Given the description of an element on the screen output the (x, y) to click on. 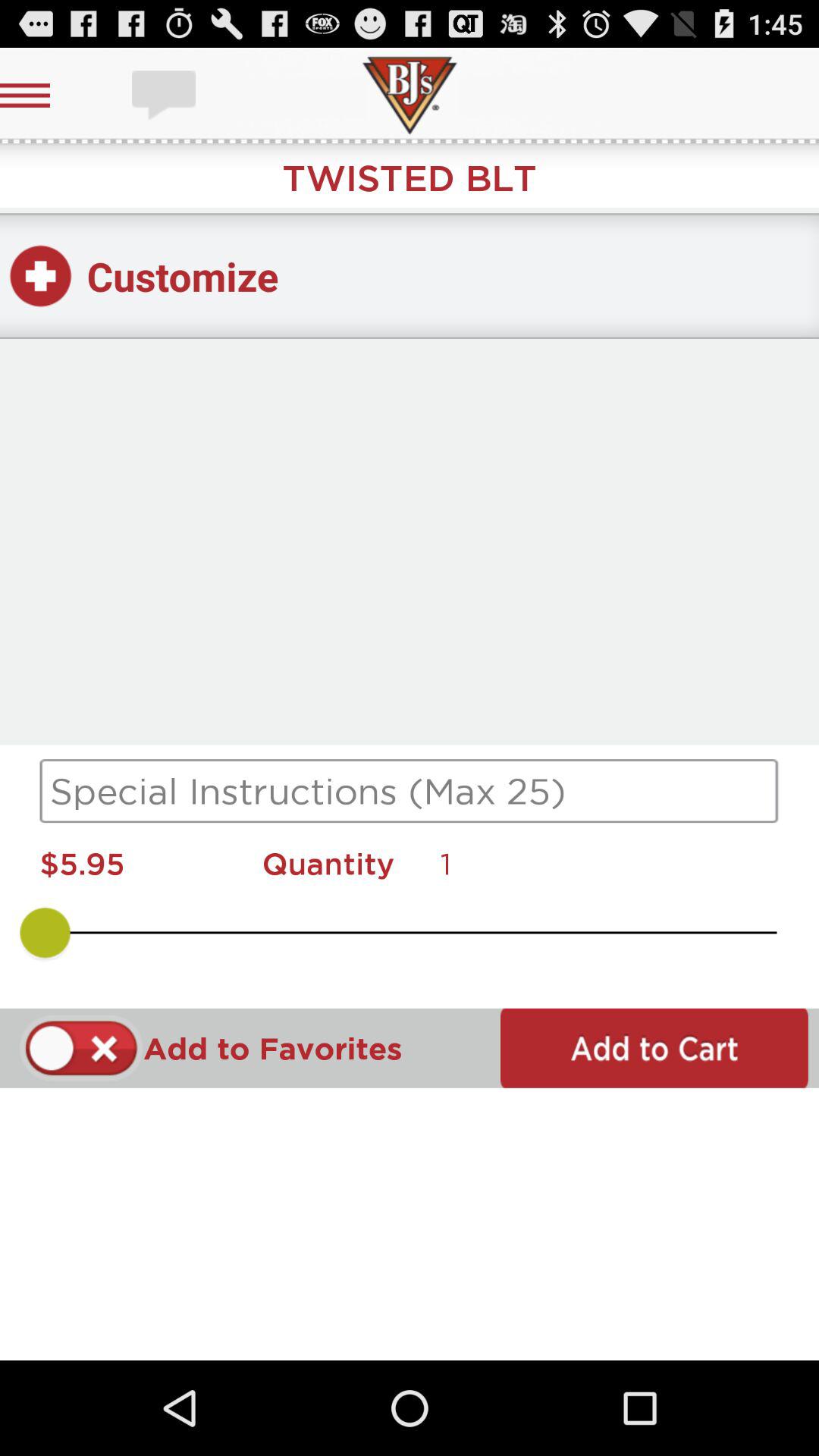
add to cart (654, 1048)
